Given the description of an element on the screen output the (x, y) to click on. 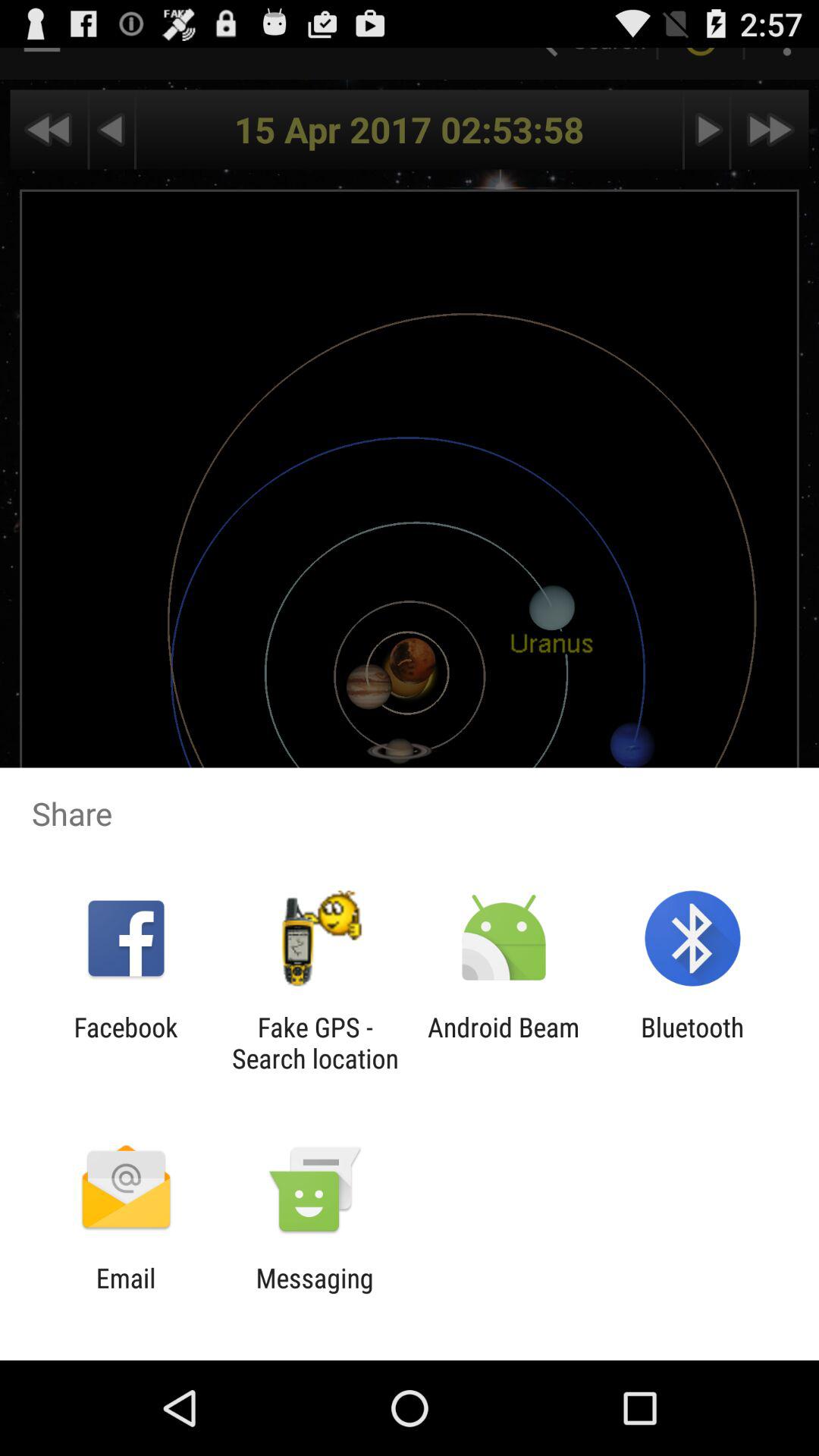
select the item next to the facebook icon (314, 1042)
